Given the description of an element on the screen output the (x, y) to click on. 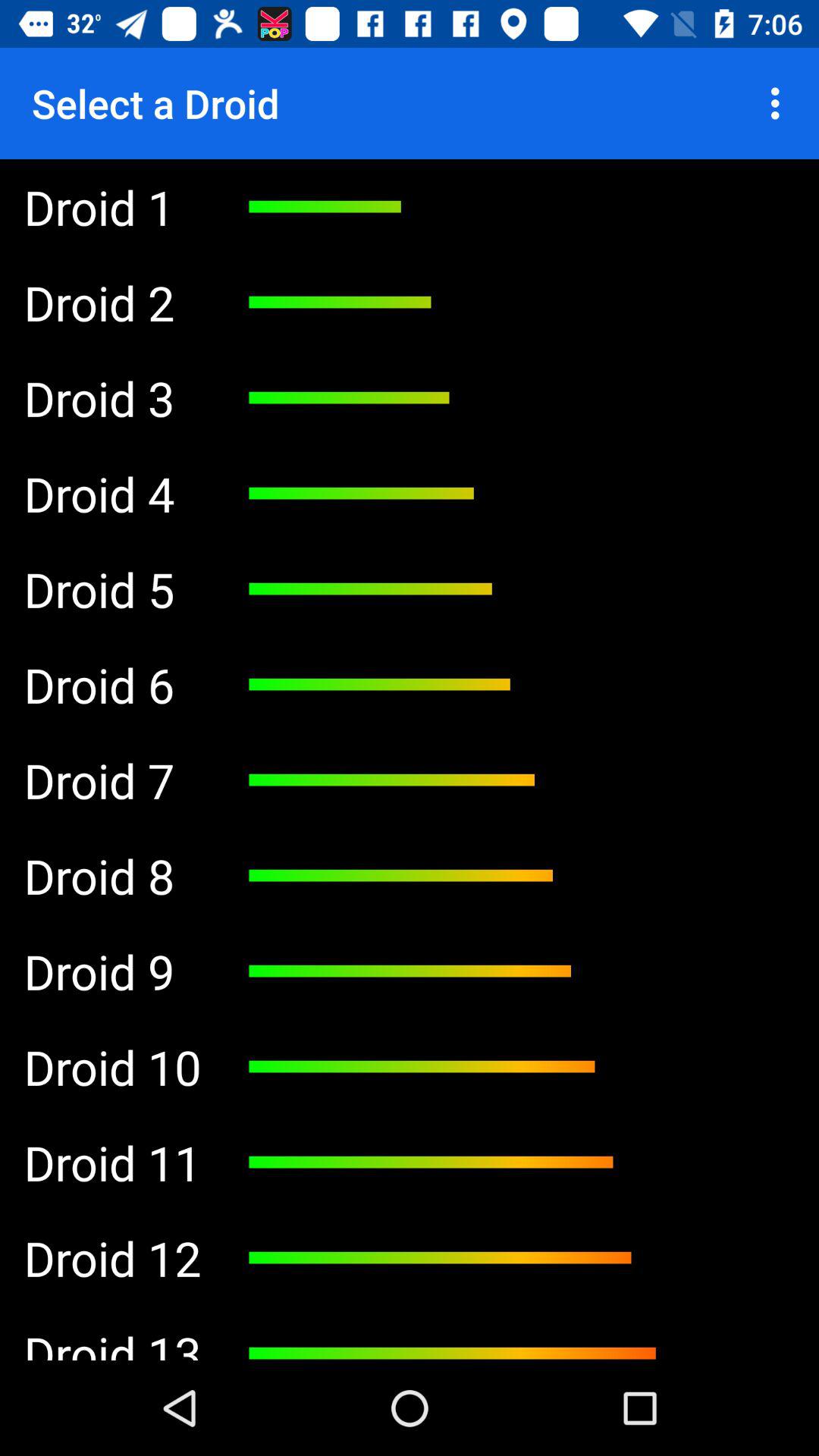
turn off the droid 6 (112, 684)
